Given the description of an element on the screen output the (x, y) to click on. 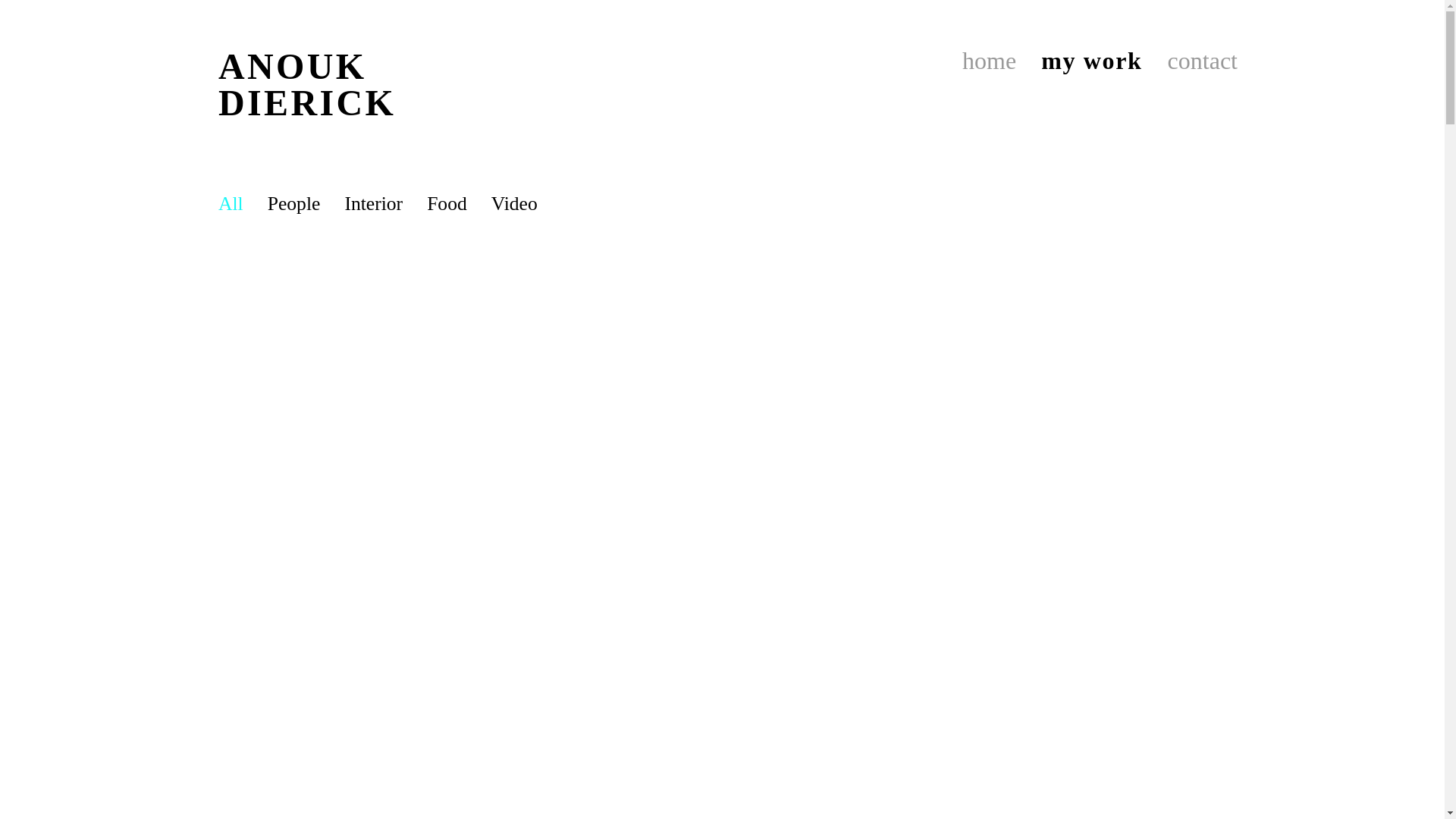
contact Element type: text (1202, 84)
Food Element type: text (446, 203)
All Element type: text (230, 203)
Video Element type: text (514, 203)
People Element type: text (293, 203)
my work Element type: text (1091, 84)
home Element type: text (989, 84)
Interior Element type: text (373, 203)
